Given the description of an element on the screen output the (x, y) to click on. 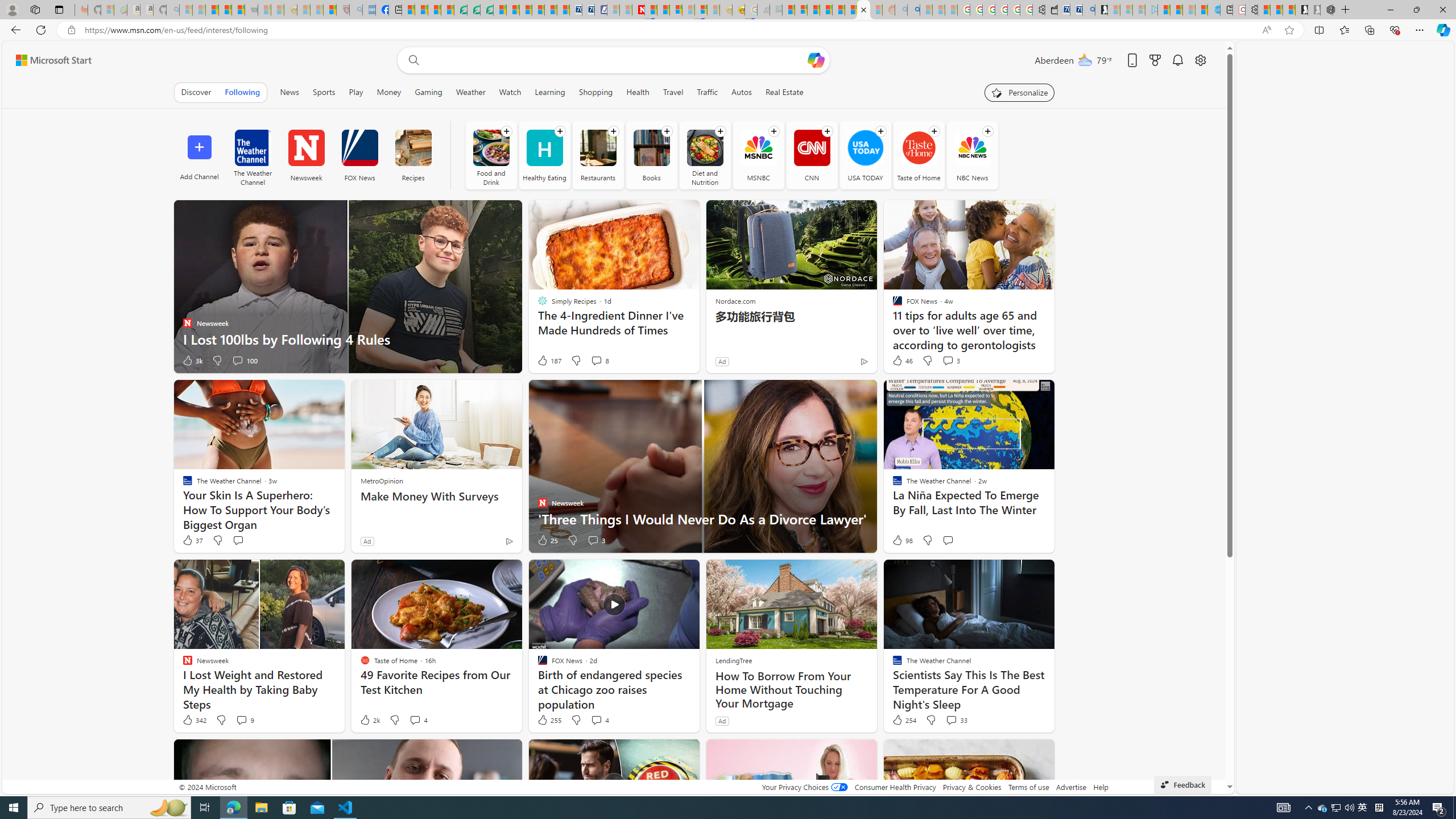
37 Like (192, 539)
Enter your search term (617, 59)
98 Like (901, 539)
Nordace.com (734, 300)
Student Loan Update: Forgiveness Program Ends This Month (826, 9)
Kinda Frugal - MSN (850, 9)
The Weather Channel - MSN (212, 9)
